Given the description of an element on the screen output the (x, y) to click on. 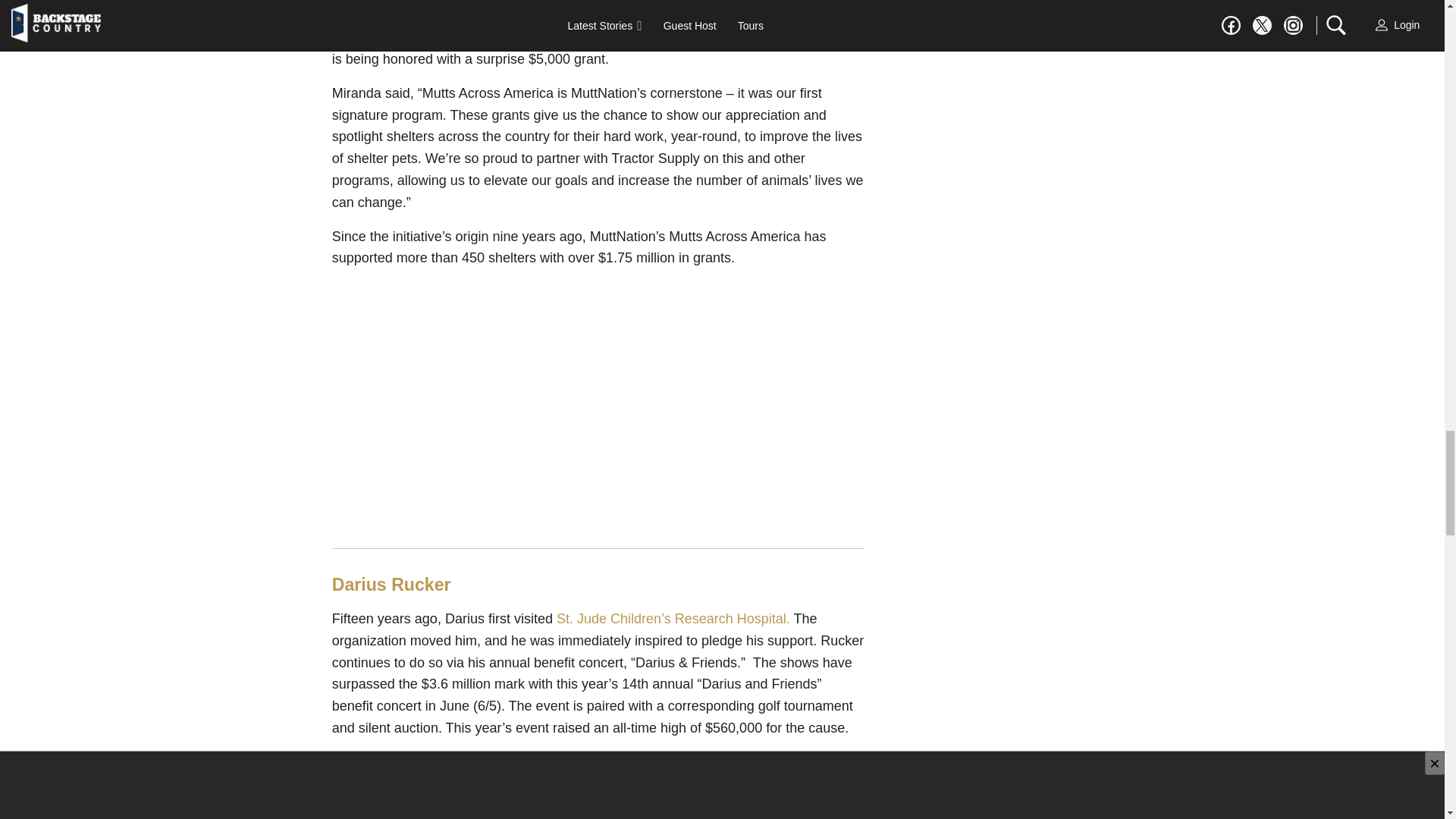
Miranda Lambert Talks About MuttNation Foundation (597, 371)
